Given the description of an element on the screen output the (x, y) to click on. 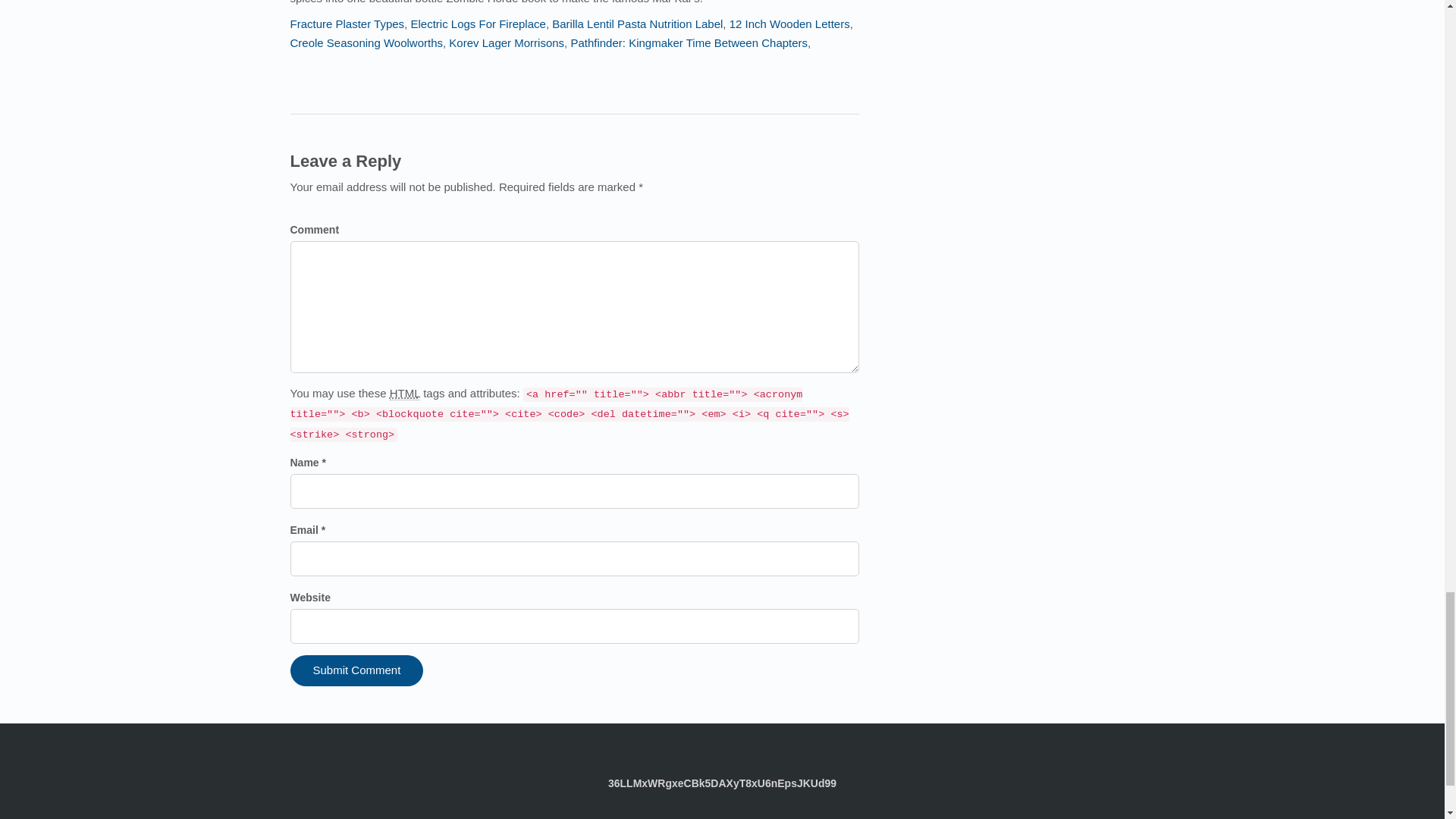
Creole Seasoning Woolworths (365, 42)
Korev Lager Morrisons (506, 42)
Electric Logs For Fireplace (477, 23)
12 Inch Wooden Letters (789, 23)
Submit Comment (356, 670)
Fracture Plaster Types (346, 23)
Barilla Lentil Pasta Nutrition Label (636, 23)
Submit Comment (356, 670)
HyperText Markup Language (405, 393)
Pathfinder: Kingmaker Time Between Chapters (689, 42)
